Given the description of an element on the screen output the (x, y) to click on. 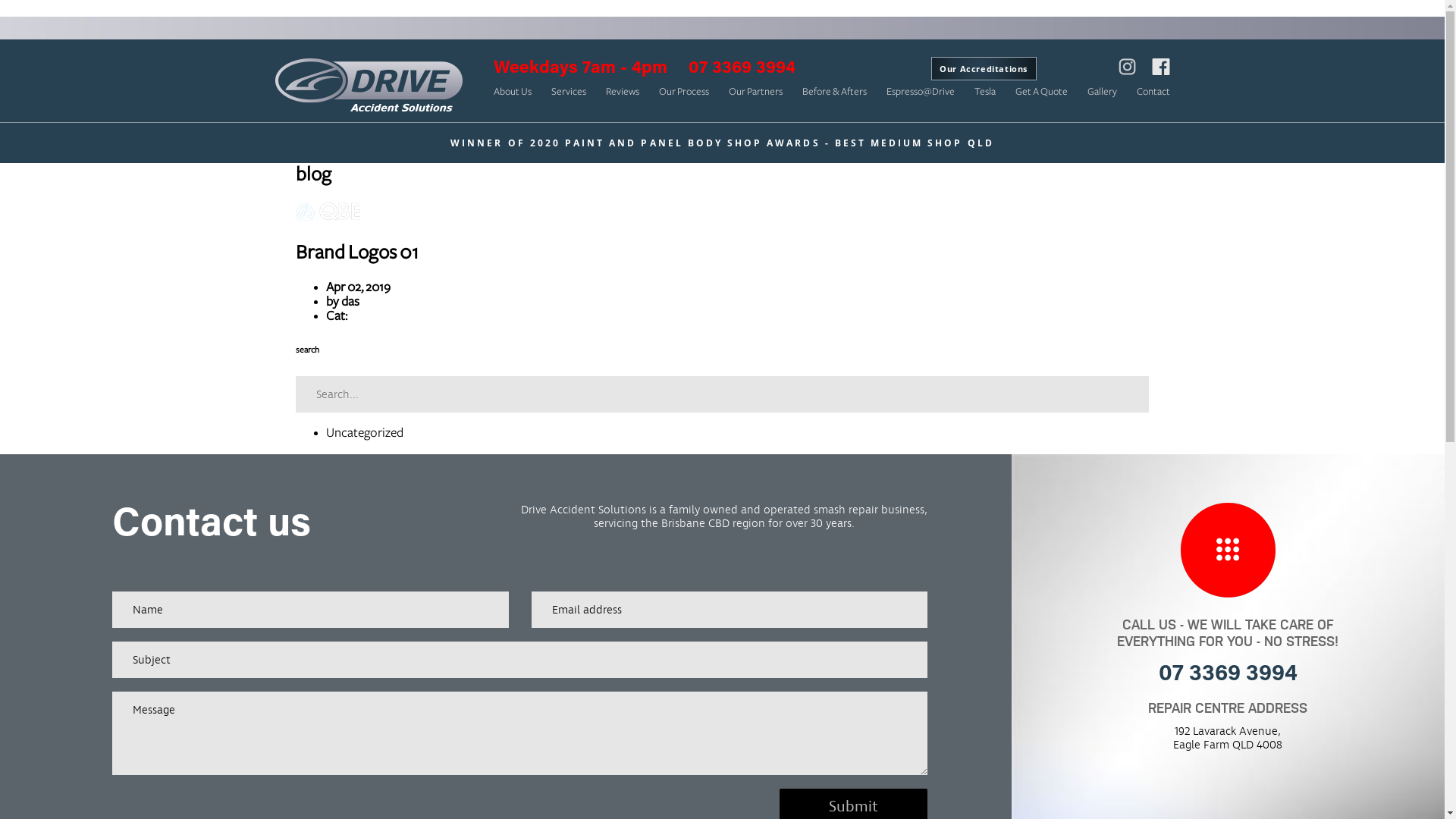
07 3369 3994 Element type: text (733, 68)
Tesla Element type: text (983, 91)
Our Partners Element type: text (754, 91)
Gallery Element type: text (1102, 91)
Before & Afters Element type: text (834, 91)
Contact Element type: text (1152, 91)
Get A Quote Element type: text (1040, 91)
Our Accreditations Element type: text (983, 68)
07 3369 3994 Element type: text (1227, 674)
Espresso@Drive Element type: text (919, 91)
Our Process Element type: text (683, 91)
About Us Element type: text (511, 91)
Services Element type: text (567, 91)
Reviews Element type: text (621, 91)
Uncategorized Element type: text (364, 432)
